Given the description of an element on the screen output the (x, y) to click on. 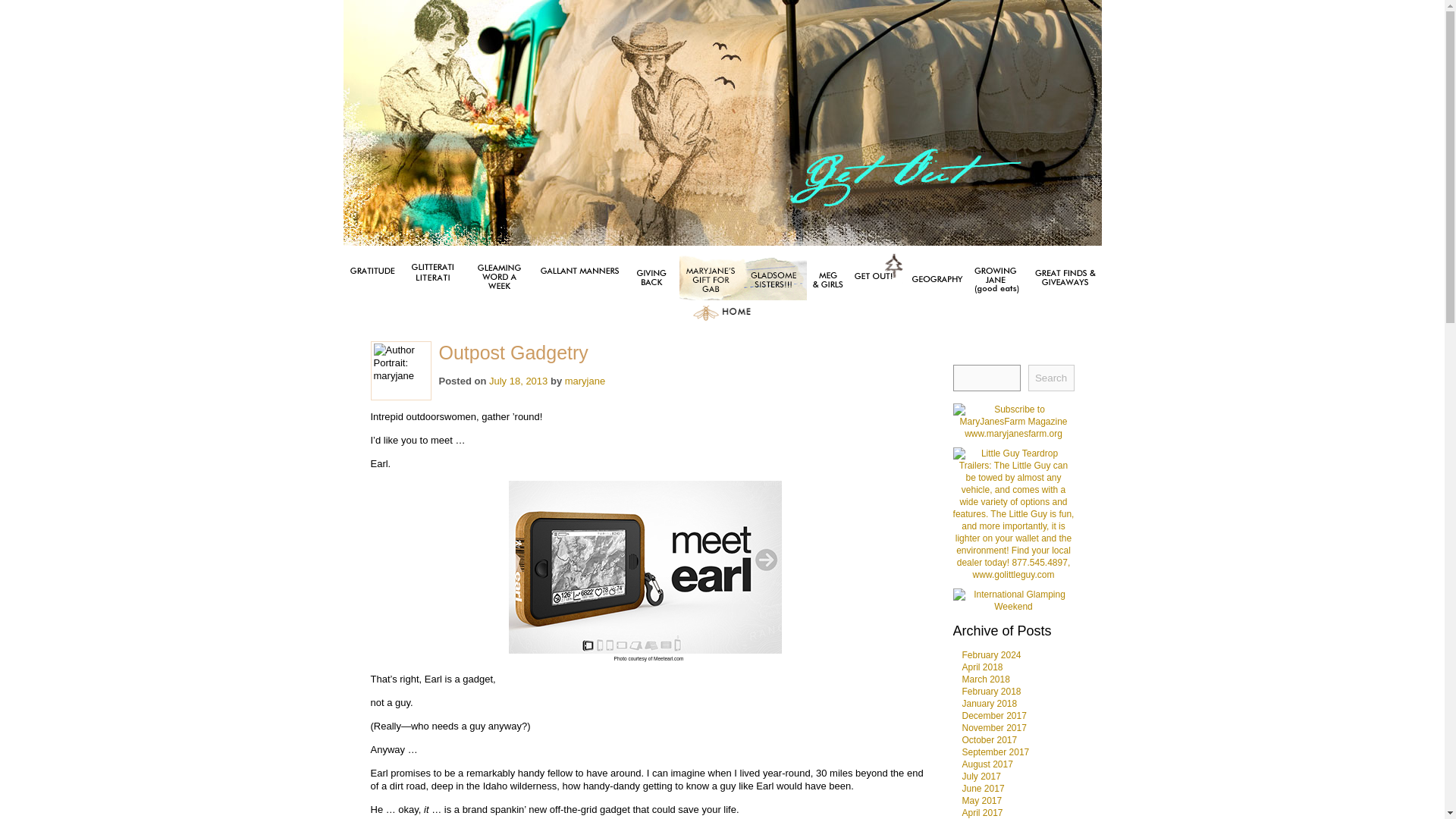
12:09 am (518, 380)
maryjane (584, 380)
View all posts by maryjane (584, 380)
Search (1050, 377)
July 18, 2013 (518, 380)
